Given the description of an element on the screen output the (x, y) to click on. 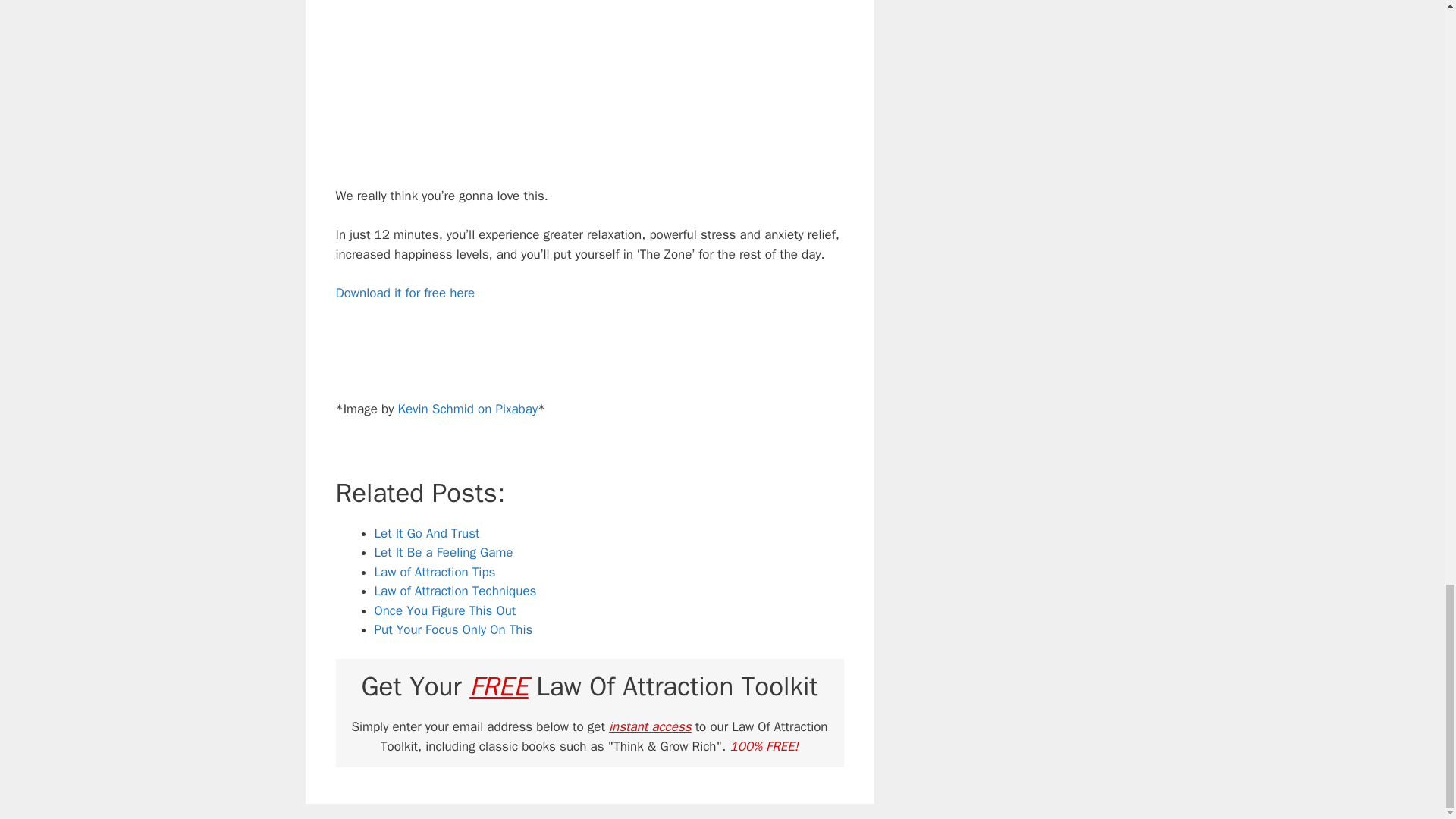
Law of Attraction Tips (435, 571)
Download it for free here (404, 293)
Put Your Focus Only On This (453, 629)
Law of Attraction Techniques (455, 590)
Let It Be a Feeling Game (443, 552)
Once You Figure This Out (445, 610)
Kevin Schmid on Pixabay (467, 408)
Let It Go And Trust (427, 533)
